Given the description of an element on the screen output the (x, y) to click on. 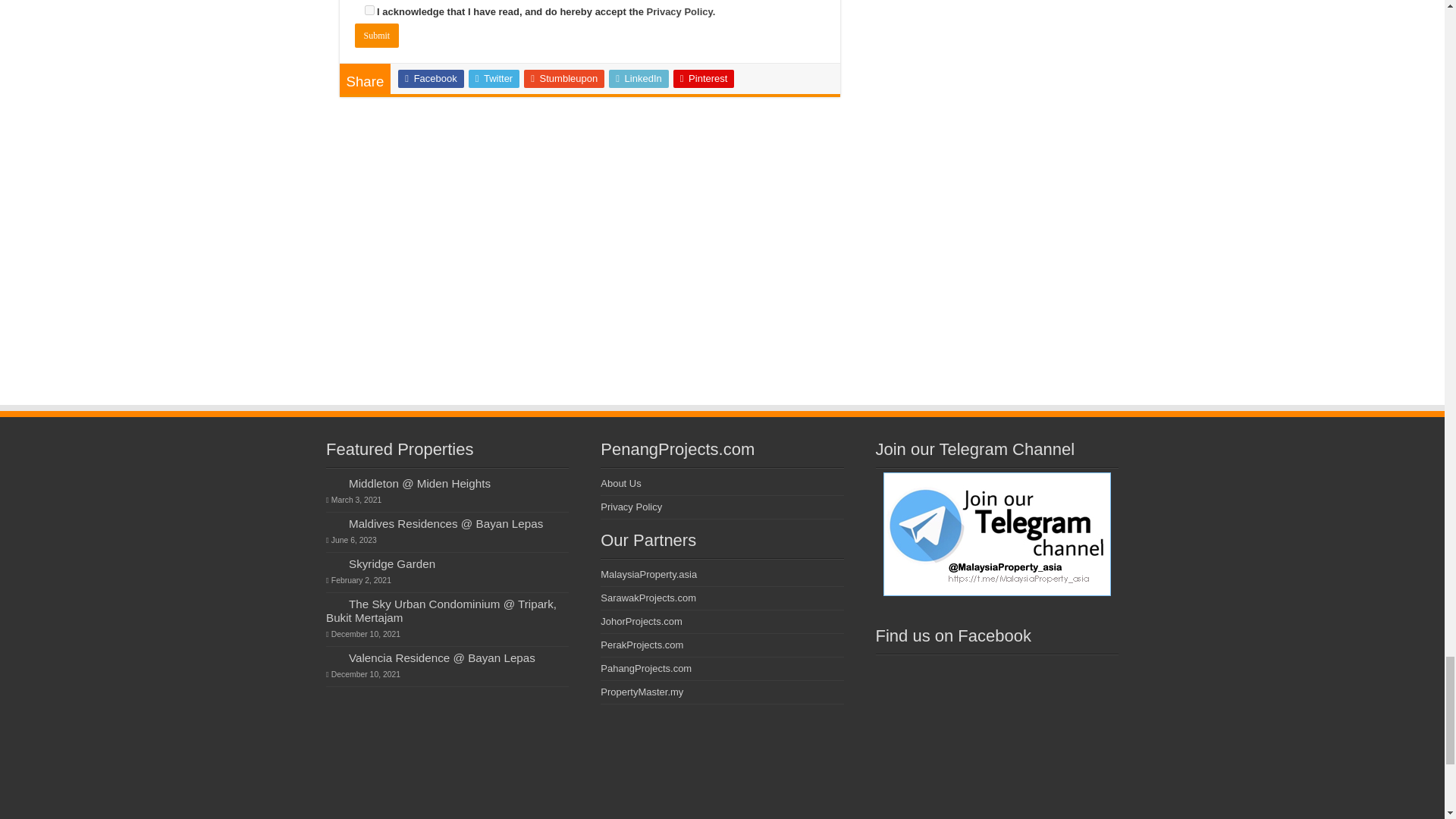
1 (369, 9)
Submit (376, 35)
Privacy Policy. (681, 11)
LinkedIn (638, 78)
Stumbleupon (564, 78)
Submit (376, 35)
Skyridge Garden (392, 563)
Facebook (430, 78)
Twitter (493, 78)
Pinterest (703, 78)
